Given the description of an element on the screen output the (x, y) to click on. 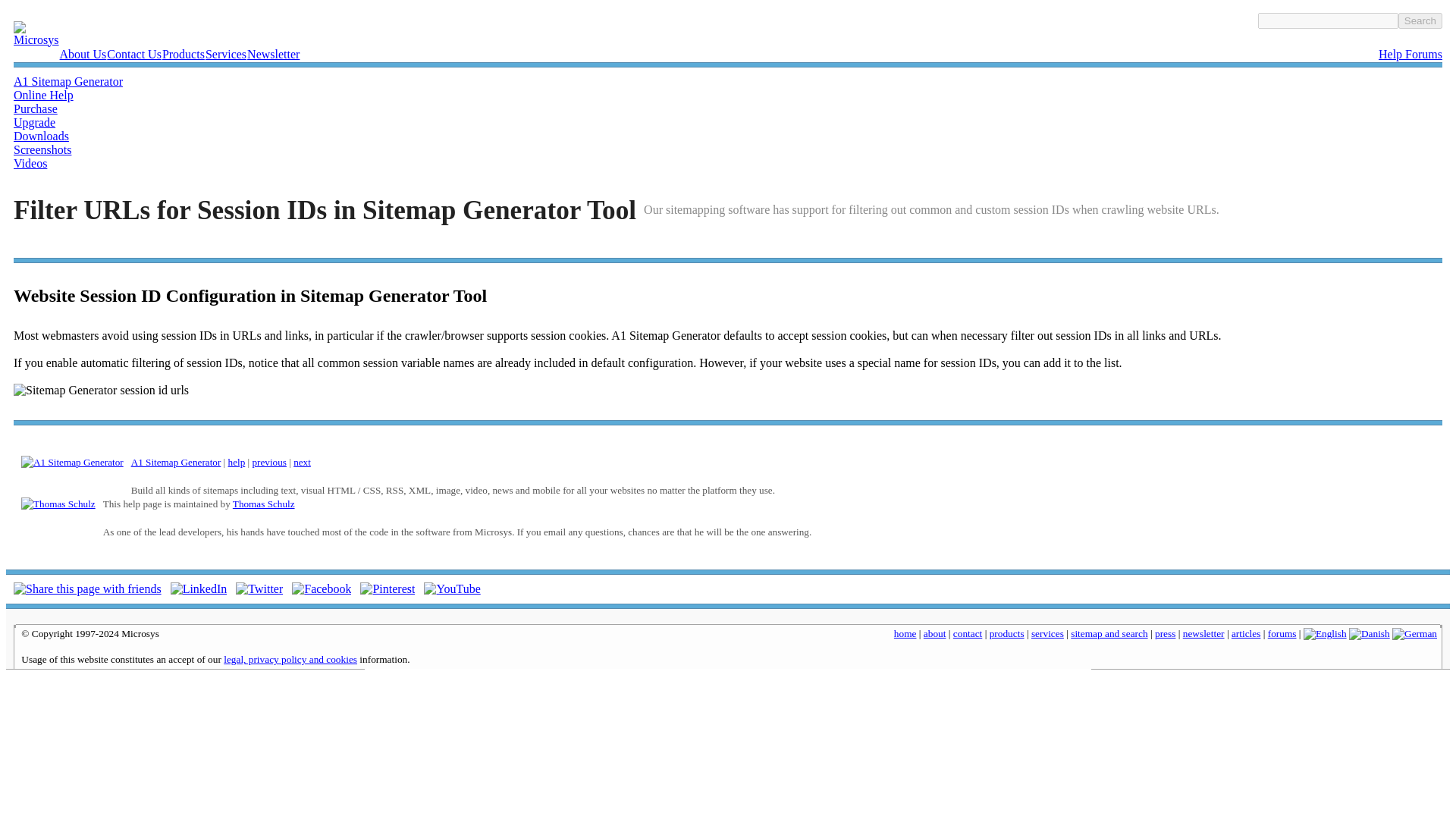
Search (1419, 19)
Videos (29, 163)
Danish (1369, 633)
Follow us on LinkedIn (198, 589)
Follow us on YouTube (451, 589)
Thomas Schulz (263, 503)
about (934, 633)
home (905, 633)
A1 Sitemap Generator (67, 81)
Purchase (35, 108)
help (237, 461)
products (1007, 633)
previous (268, 461)
services (1047, 633)
German (1414, 633)
